Given the description of an element on the screen output the (x, y) to click on. 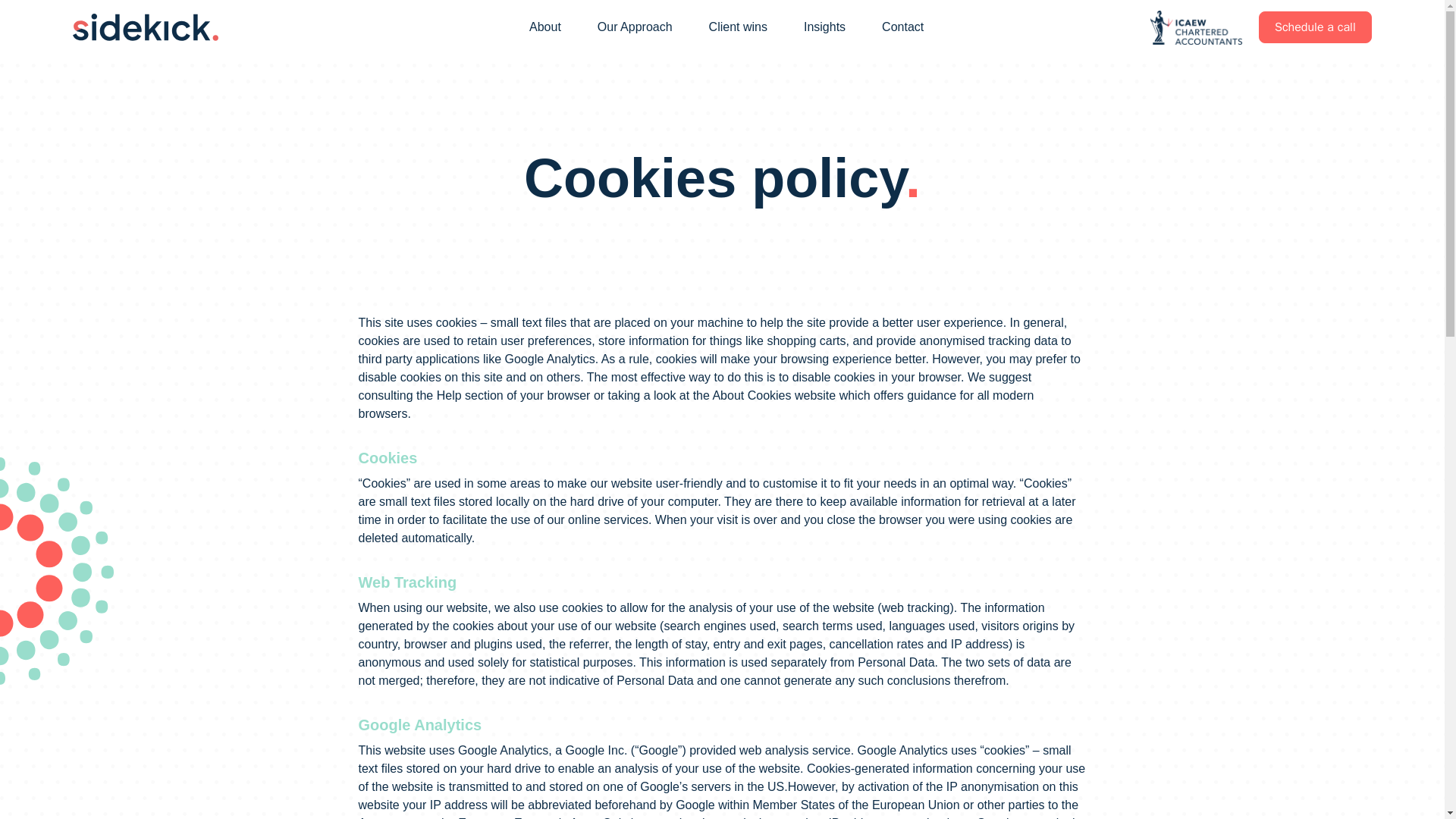
Our Approach (634, 27)
About (544, 27)
Client wins (737, 27)
Schedule a call (1315, 27)
Contact (902, 27)
Insights (824, 27)
